Given the description of an element on the screen output the (x, y) to click on. 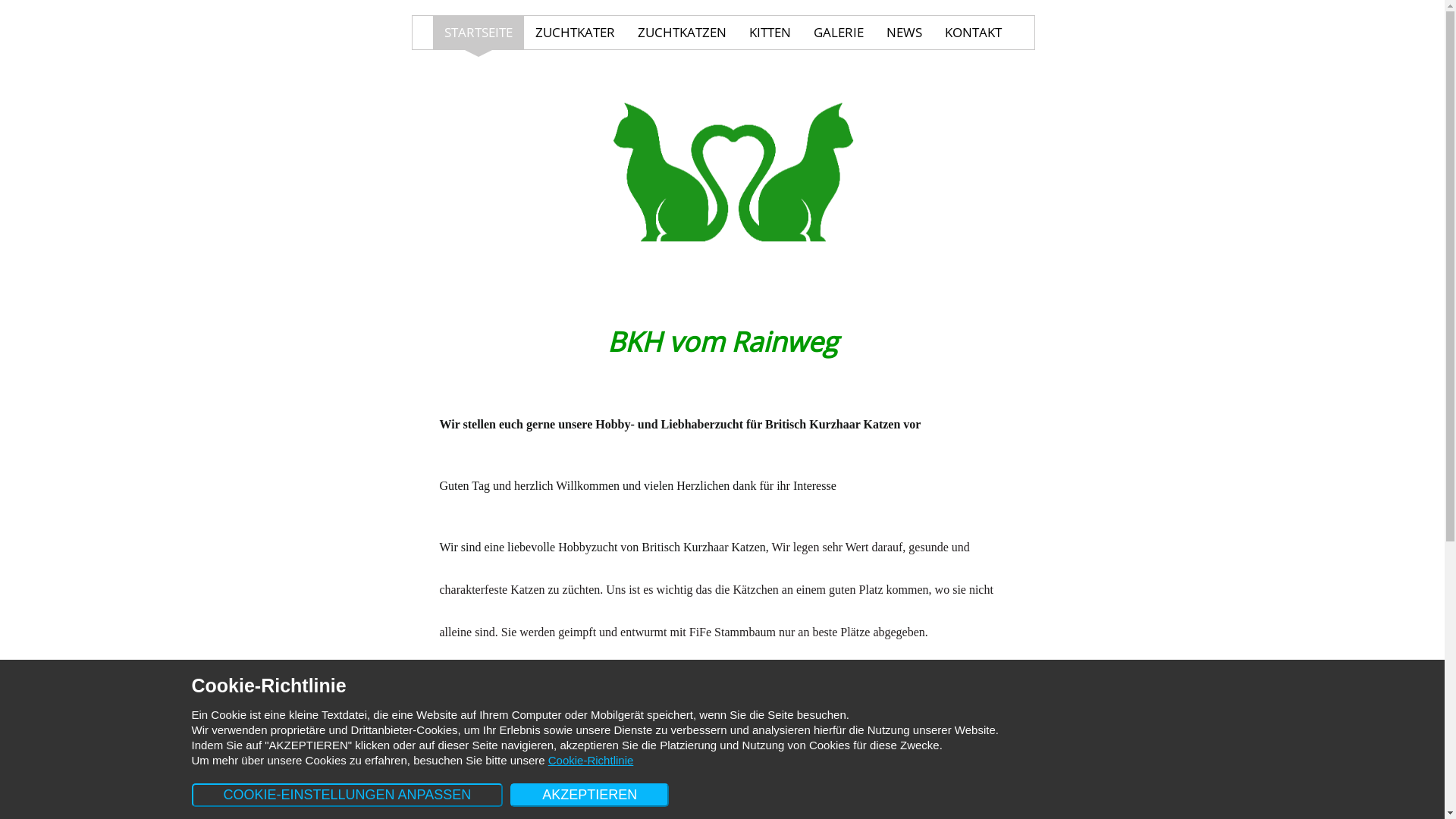
STARTSEITE Element type: text (478, 32)
ZUCHTKATZEN Element type: text (681, 32)
NEWS Element type: text (904, 32)
ZUCHTKATER Element type: text (575, 32)
COOKIE-EINSTELLUNGEN ANPASSEN Element type: text (346, 794)
Cookie-Richtlinie Element type: text (590, 759)
KONTAKT Element type: text (973, 32)
AKZEPTIEREN Element type: text (589, 794)
GALERIE Element type: text (838, 32)
KITTEN Element type: text (769, 32)
